Given the description of an element on the screen output the (x, y) to click on. 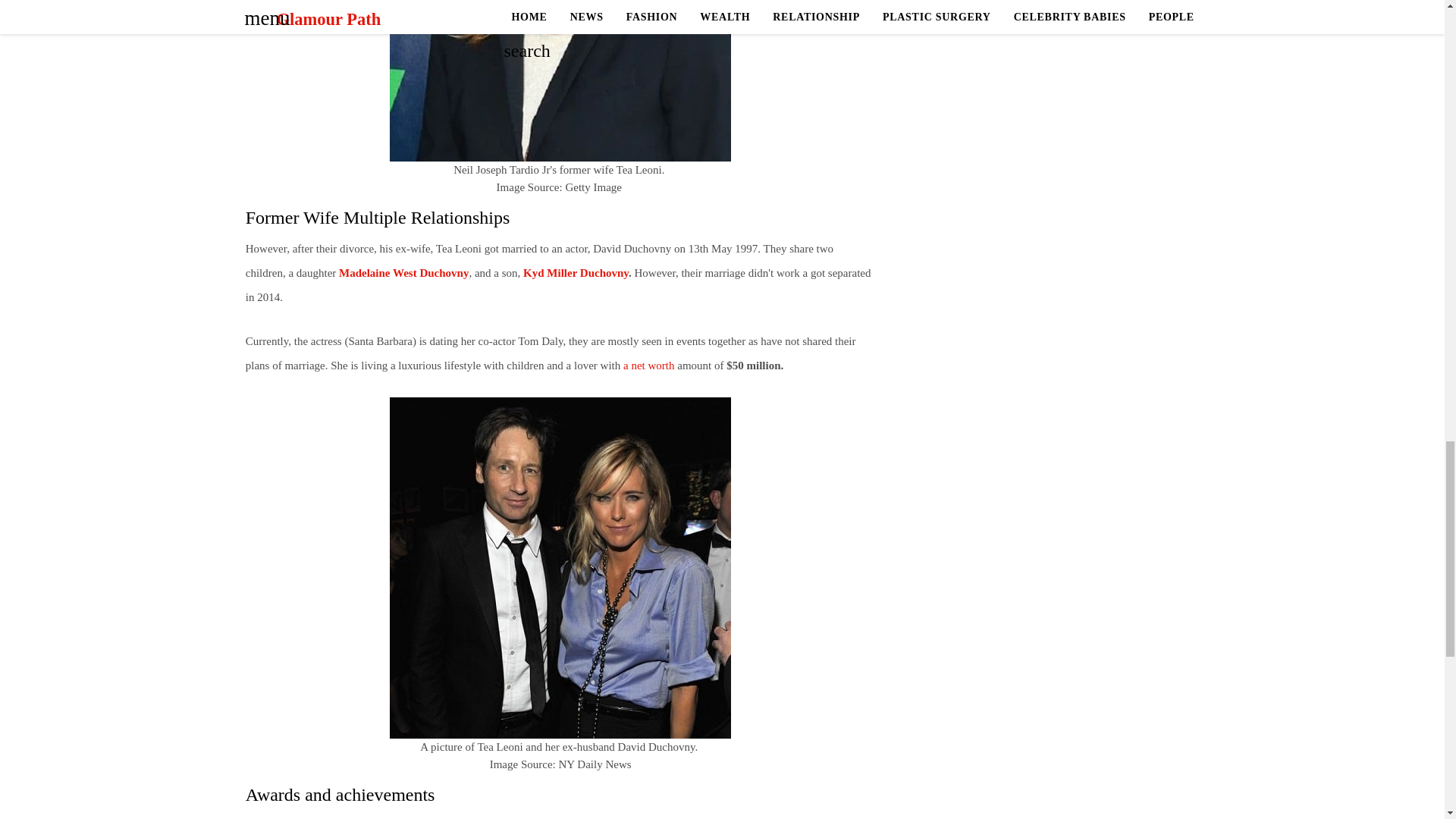
a net worth (650, 365)
Madelaine West Duchovny (402, 272)
Kyd Miller Duchovny (575, 272)
